Given the description of an element on the screen output the (x, y) to click on. 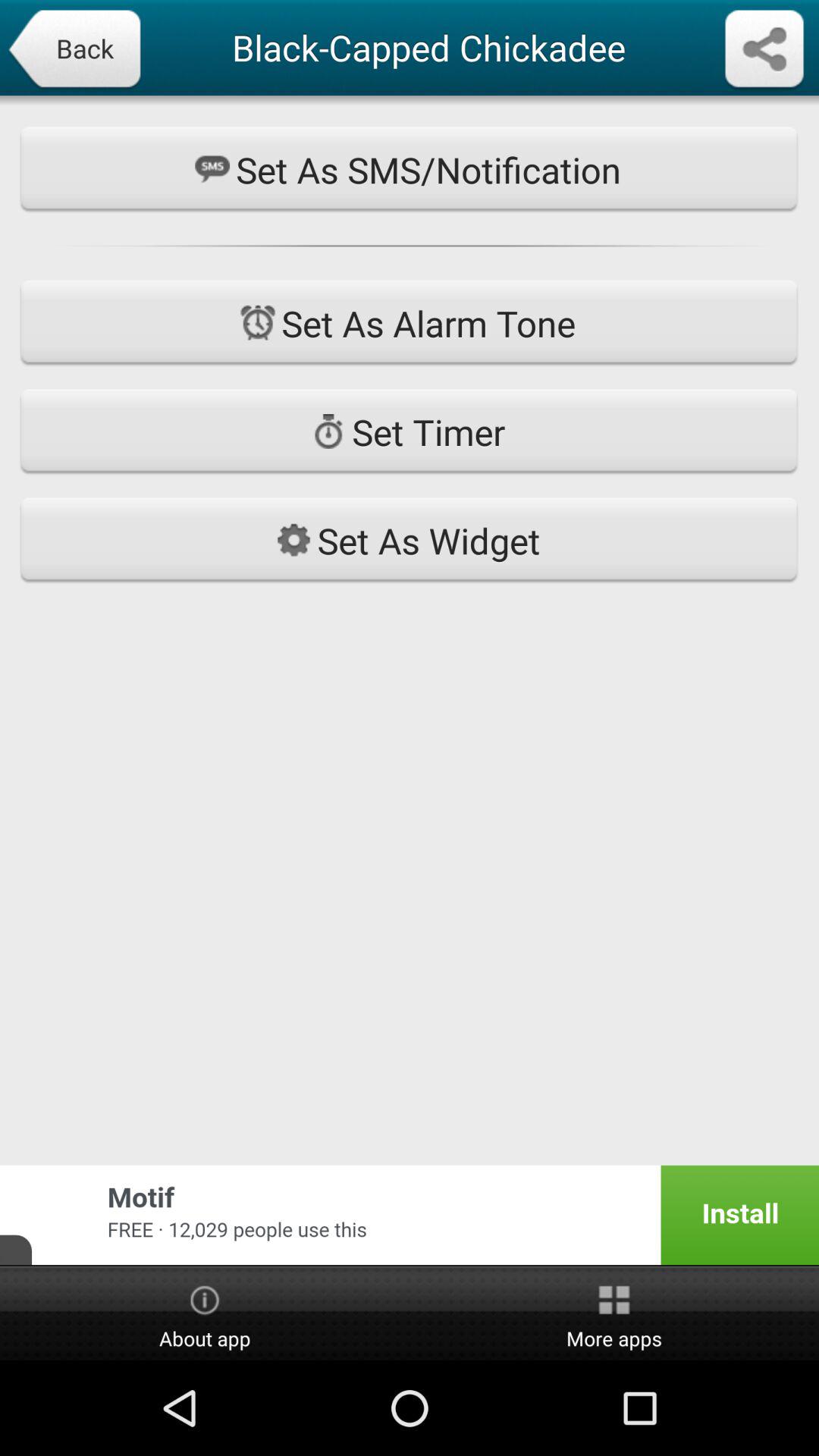
banner advertisement (409, 1214)
